Given the description of an element on the screen output the (x, y) to click on. 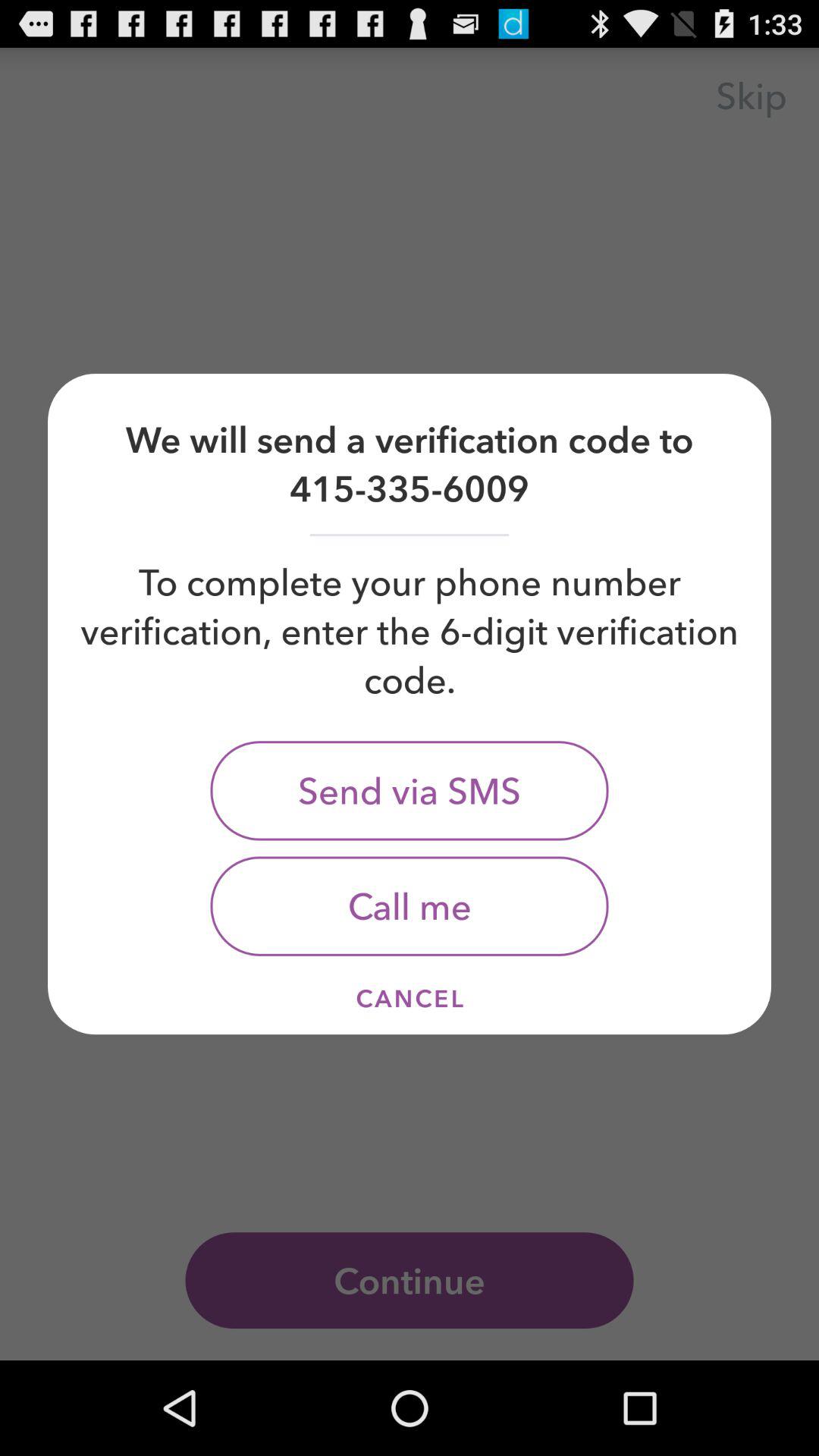
swipe to the send via sms item (409, 790)
